Given the description of an element on the screen output the (x, y) to click on. 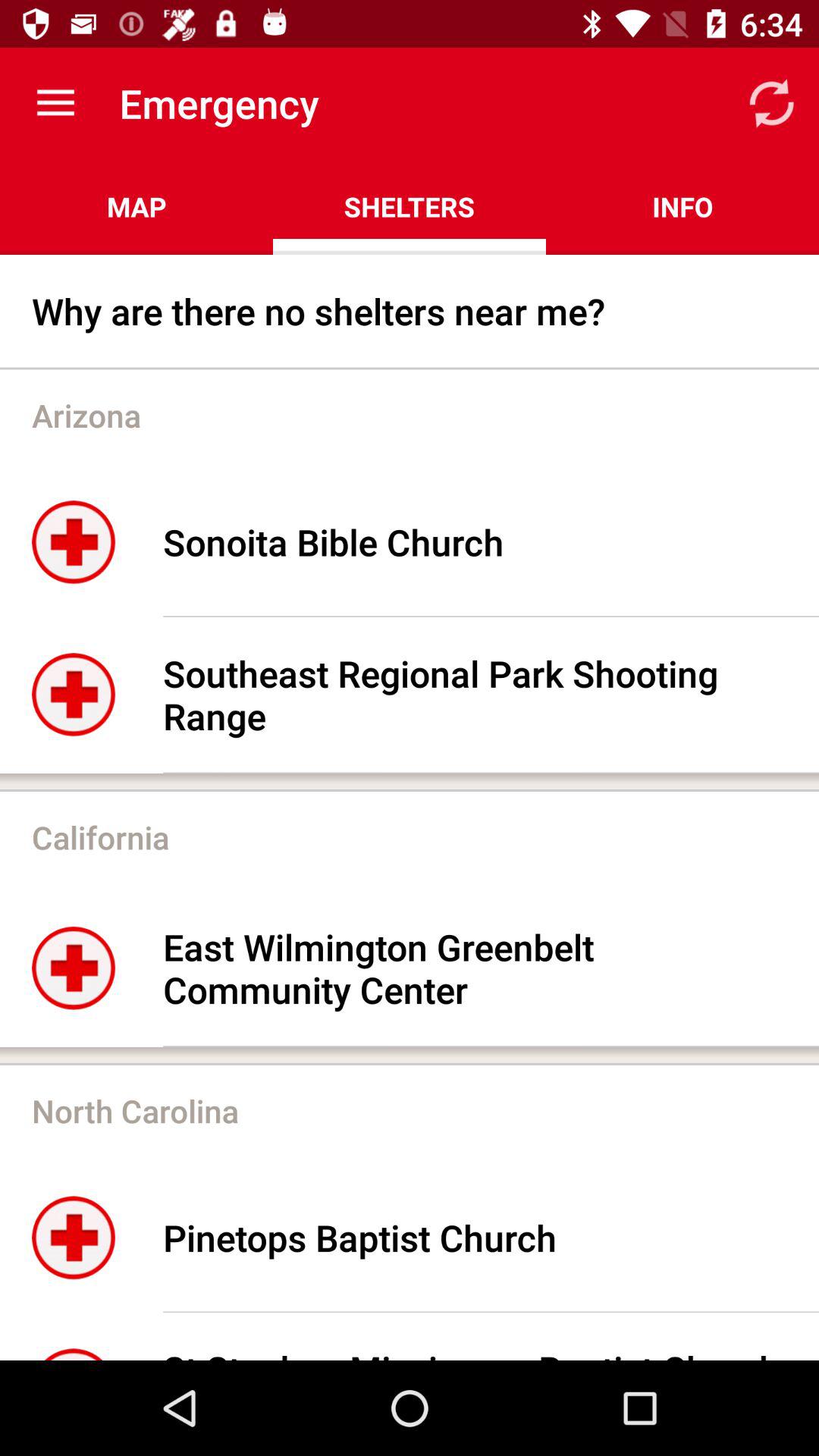
tap the item next to shelters (771, 103)
